Given the description of an element on the screen output the (x, y) to click on. 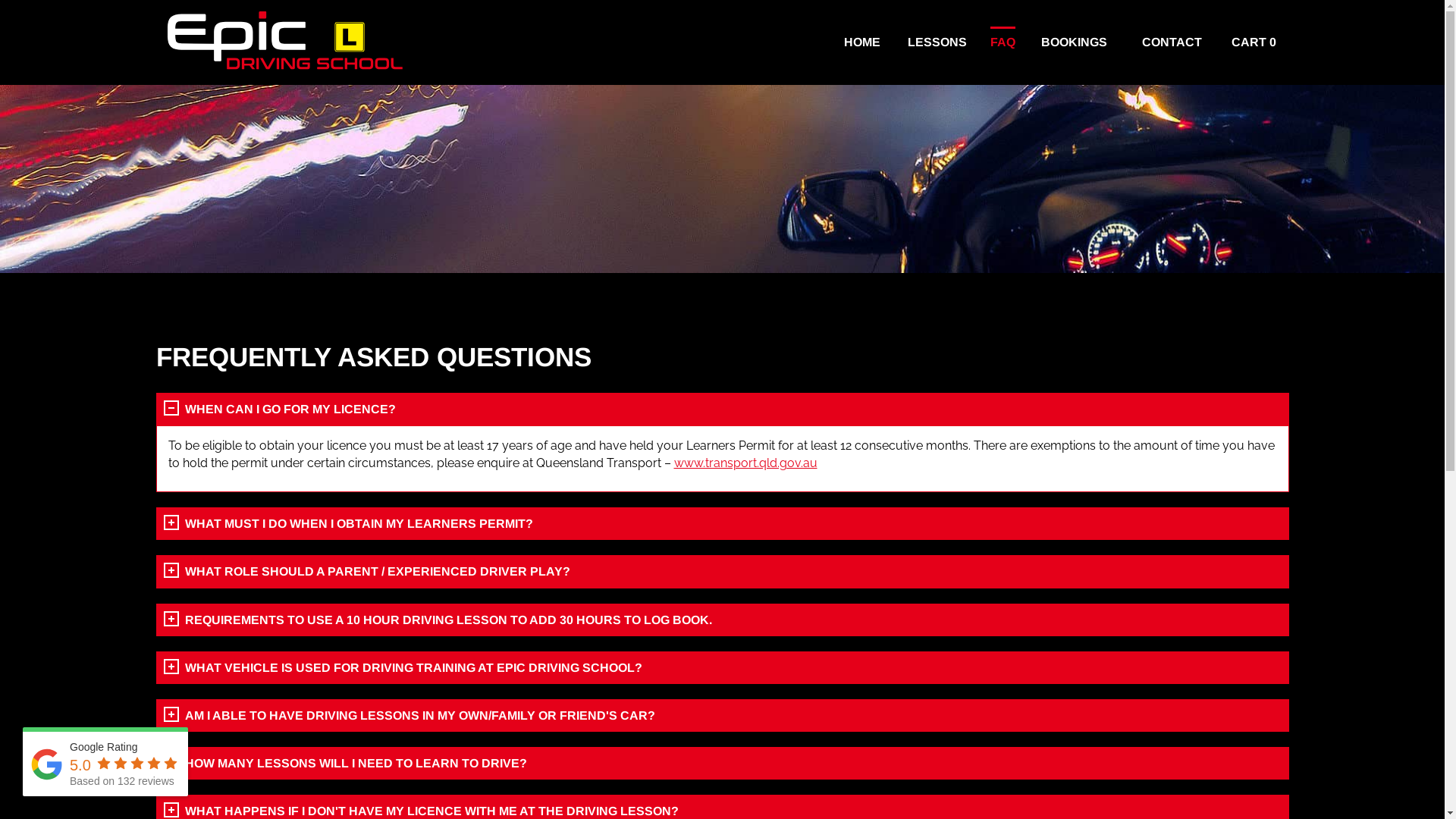
CONTACT Element type: text (1171, 42)
LESSONS Element type: text (936, 42)
BOOKINGS Element type: text (1073, 42)
FAQ Element type: text (1002, 42)
HOME Element type: text (862, 42)
CART 0 Element type: text (1253, 42)
www.transport.qld.gov.au Element type: text (744, 462)
